Given the description of an element on the screen output the (x, y) to click on. 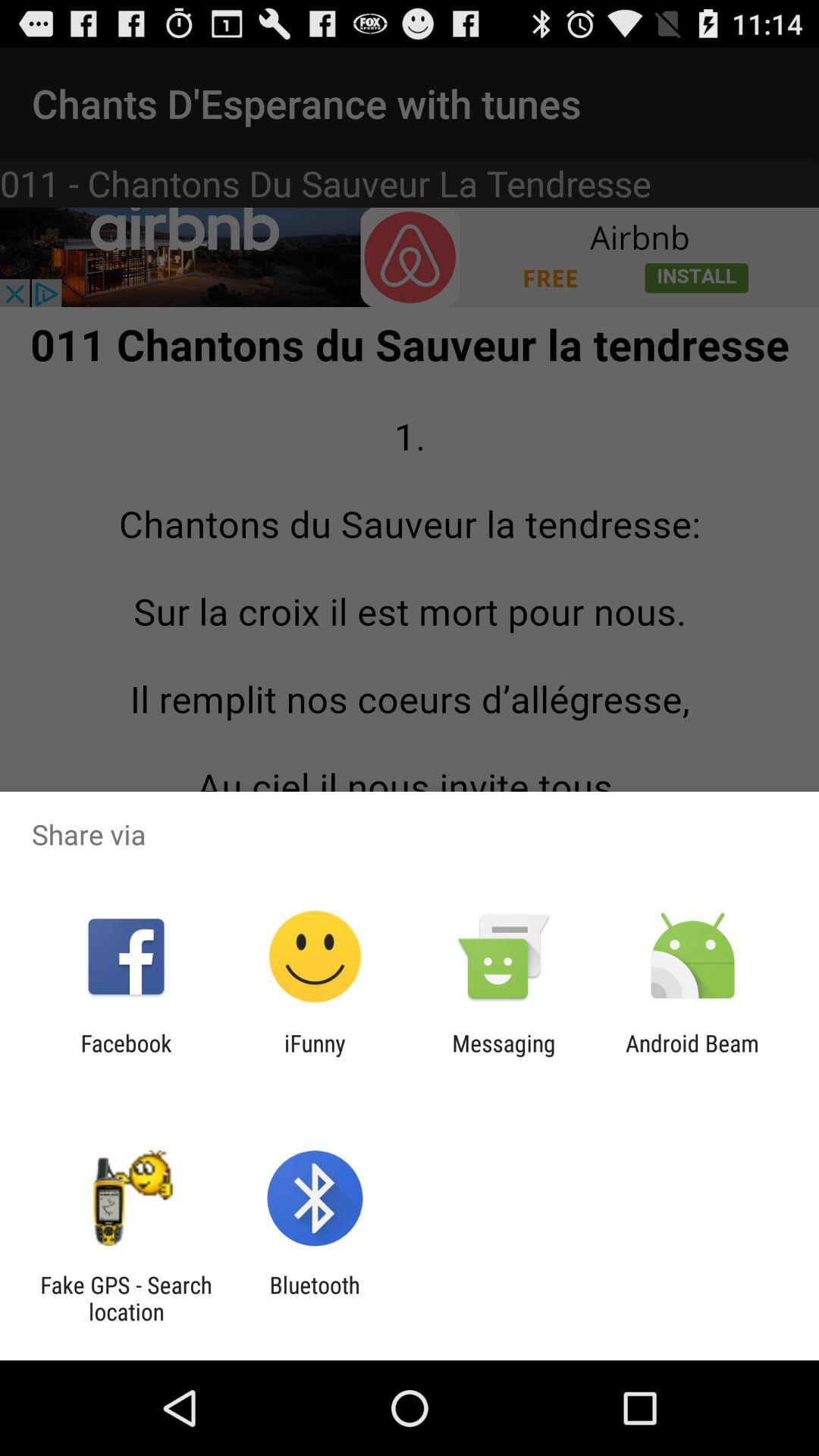
tap app next to fake gps search icon (314, 1298)
